Given the description of an element on the screen output the (x, y) to click on. 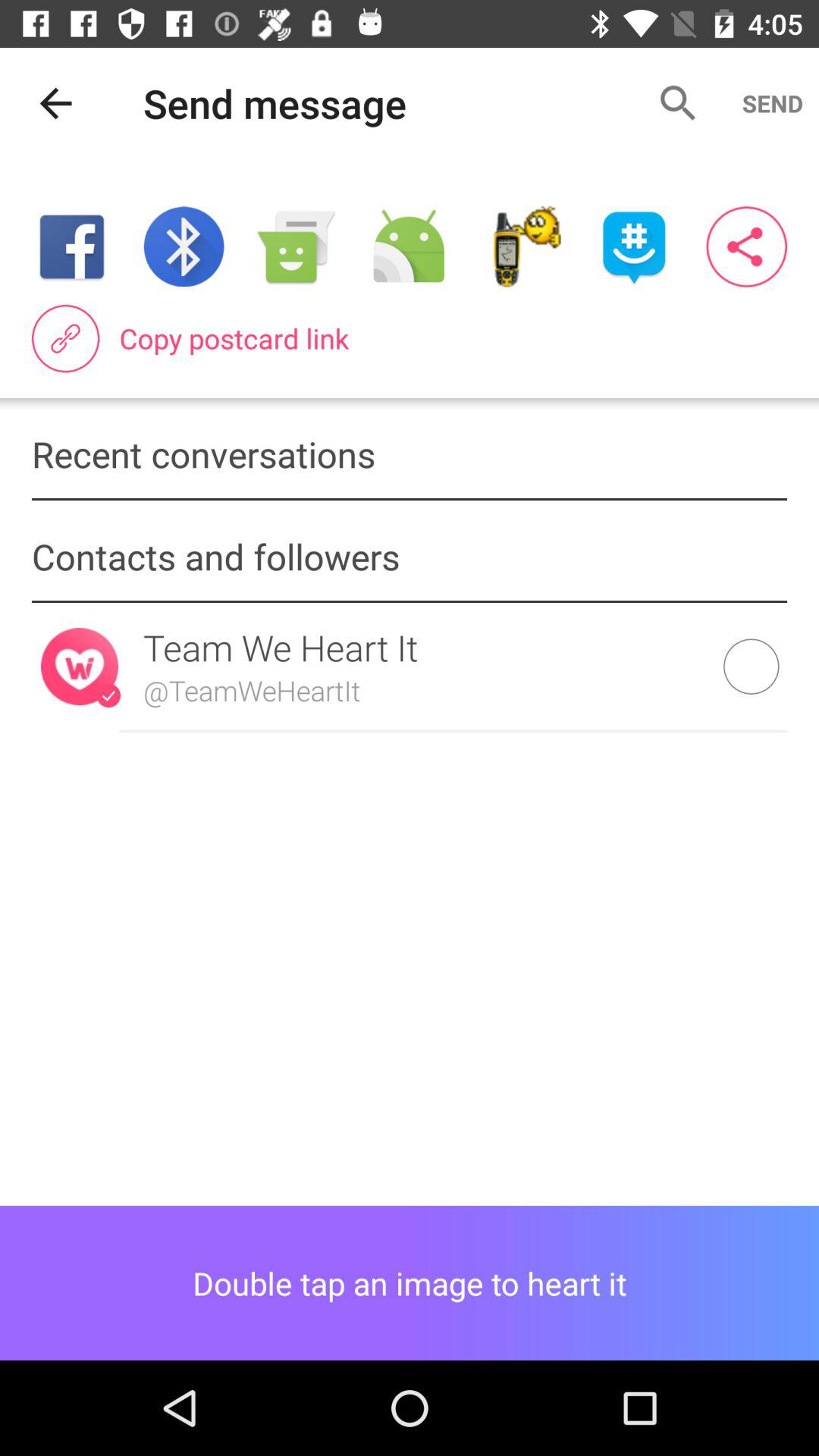
share content on groupme (633, 246)
